Given the description of an element on the screen output the (x, y) to click on. 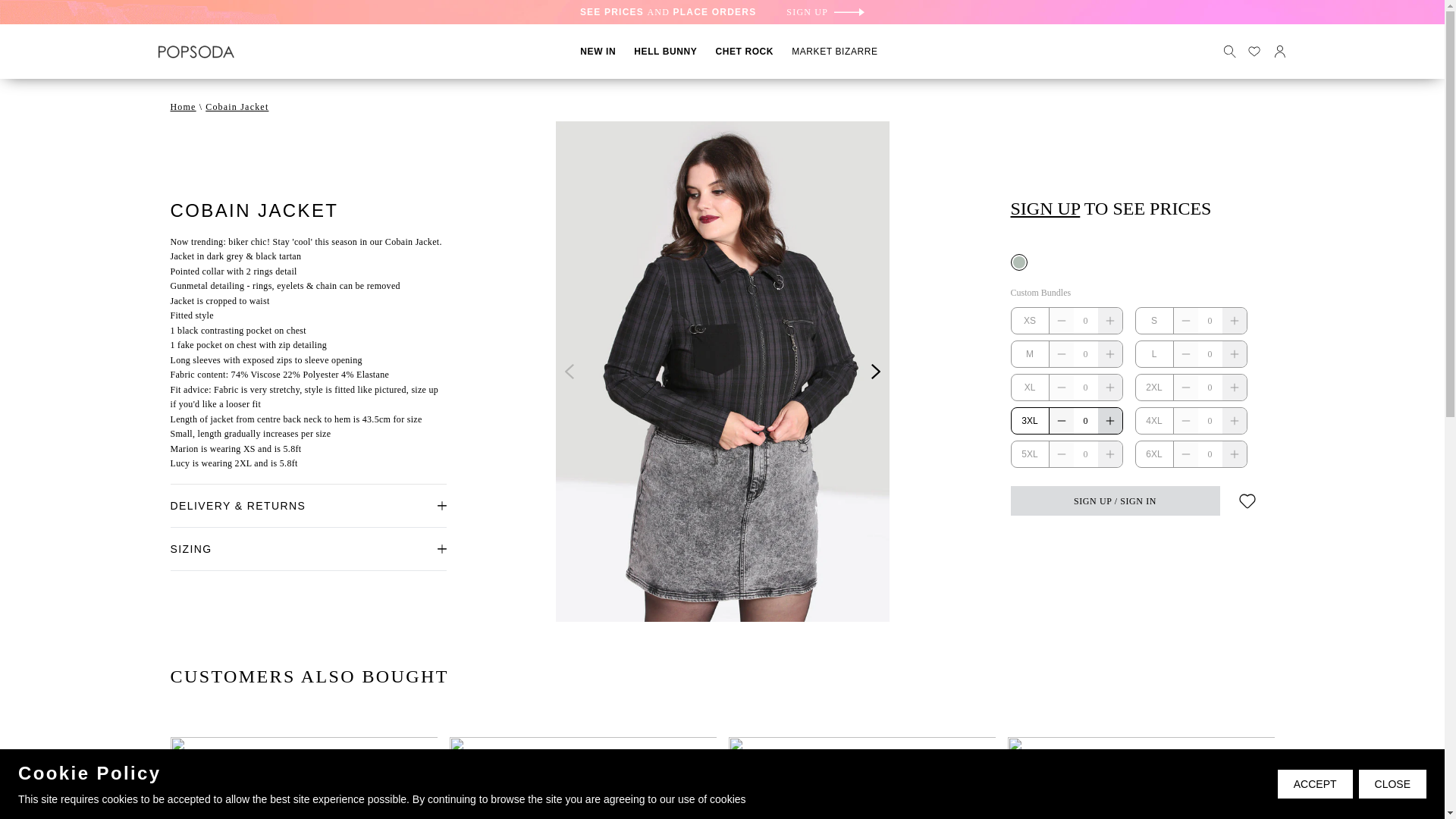
0 (1210, 453)
0 (1085, 387)
0 (1210, 387)
0 (1210, 320)
MARKET BIZARRE (834, 50)
0 (1085, 420)
0 (1210, 420)
0 (1085, 453)
Add to wishlist (1246, 501)
0 (1210, 353)
0 (1085, 353)
0 (1085, 320)
Hell bunny logo (194, 51)
SIGN UP (825, 11)
